Given the description of an element on the screen output the (x, y) to click on. 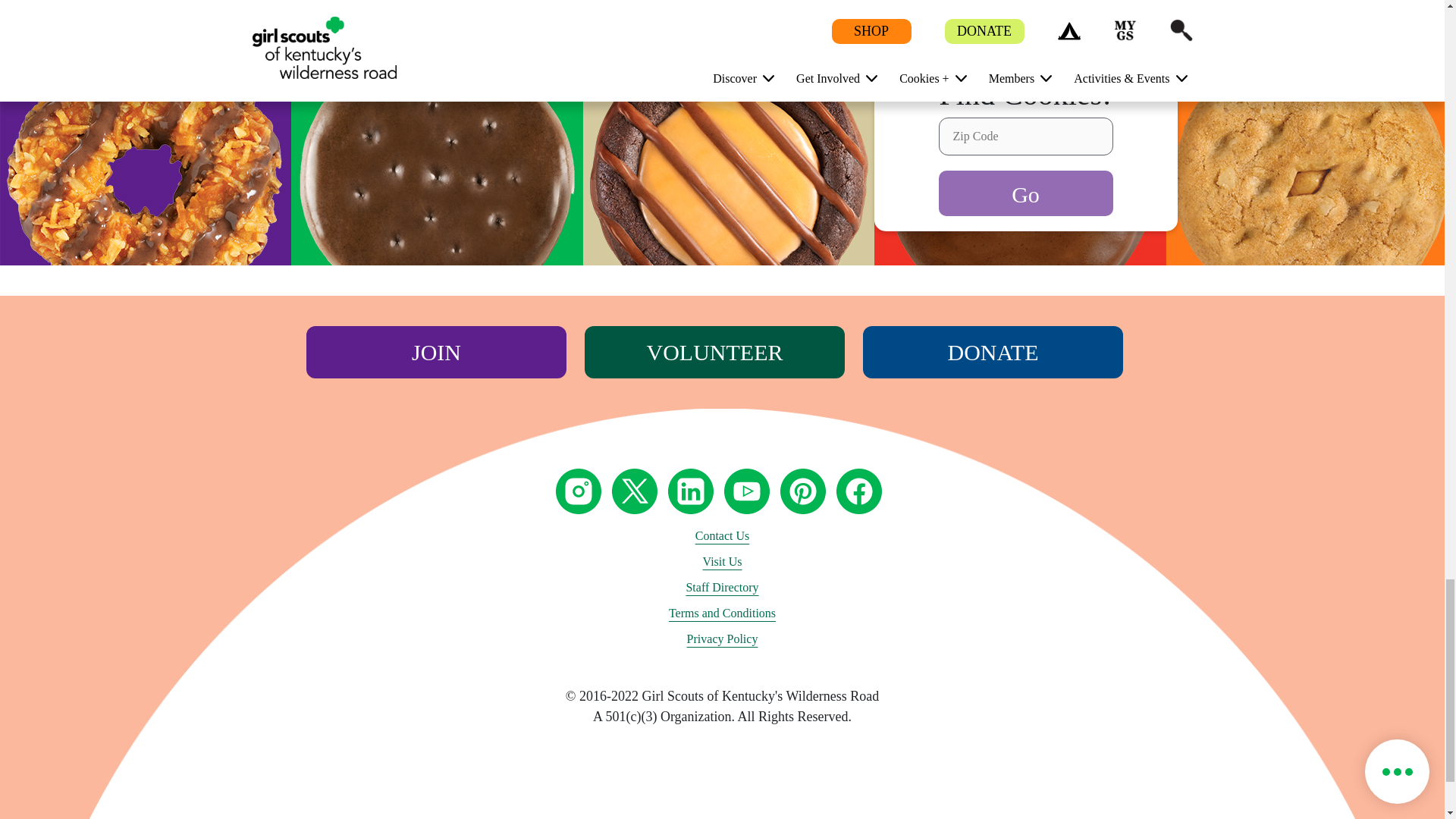
close Find Cookies! popup (1134, 94)
5 Number Zip Code (1026, 136)
Go (1026, 193)
